Given the description of an element on the screen output the (x, y) to click on. 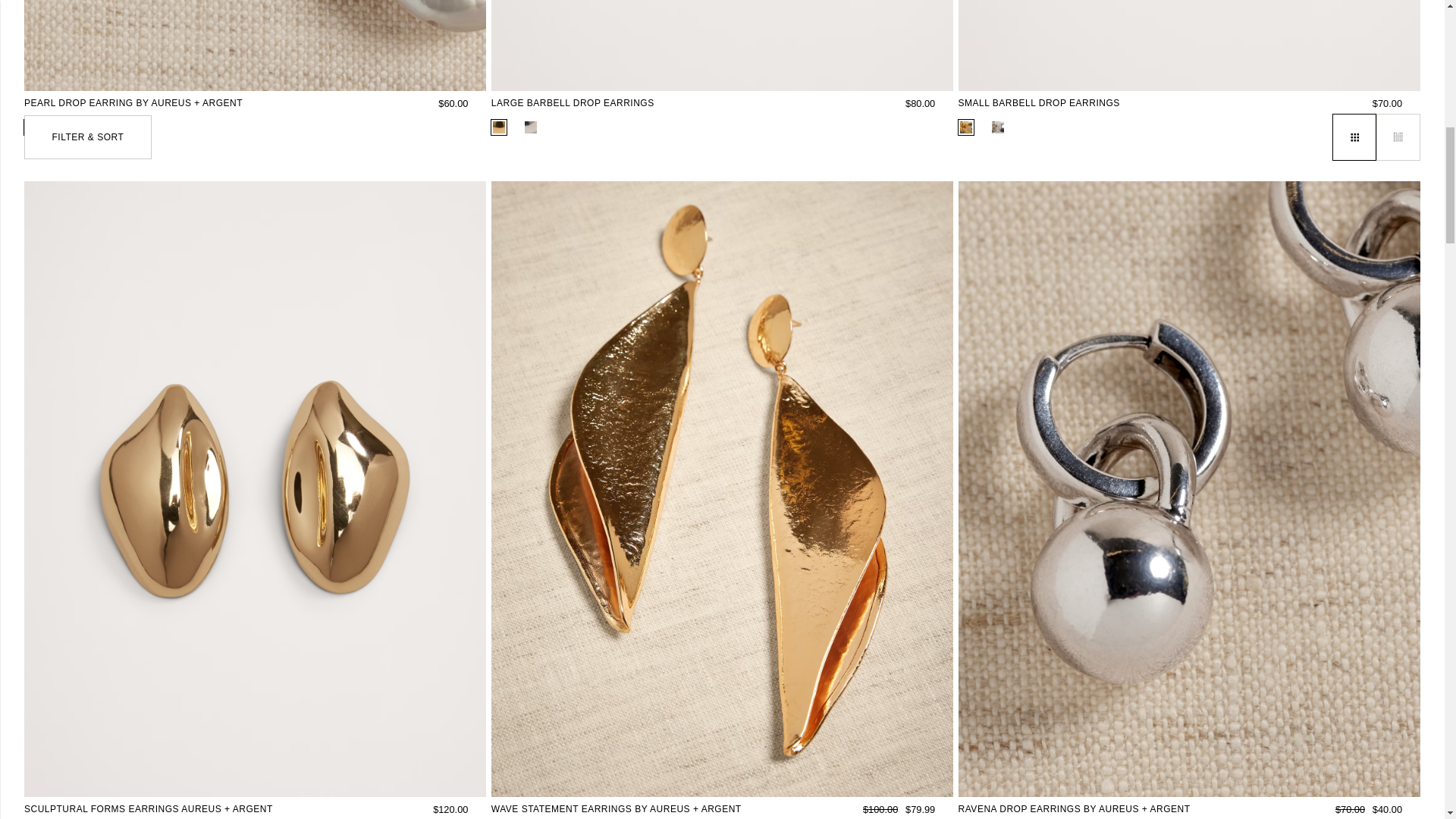
gold (499, 127)
LARGE BARBELL DROP EARRINGS (582, 102)
gold (31, 127)
silver (997, 127)
gold (965, 127)
silver (530, 127)
